Given the description of an element on the screen output the (x, y) to click on. 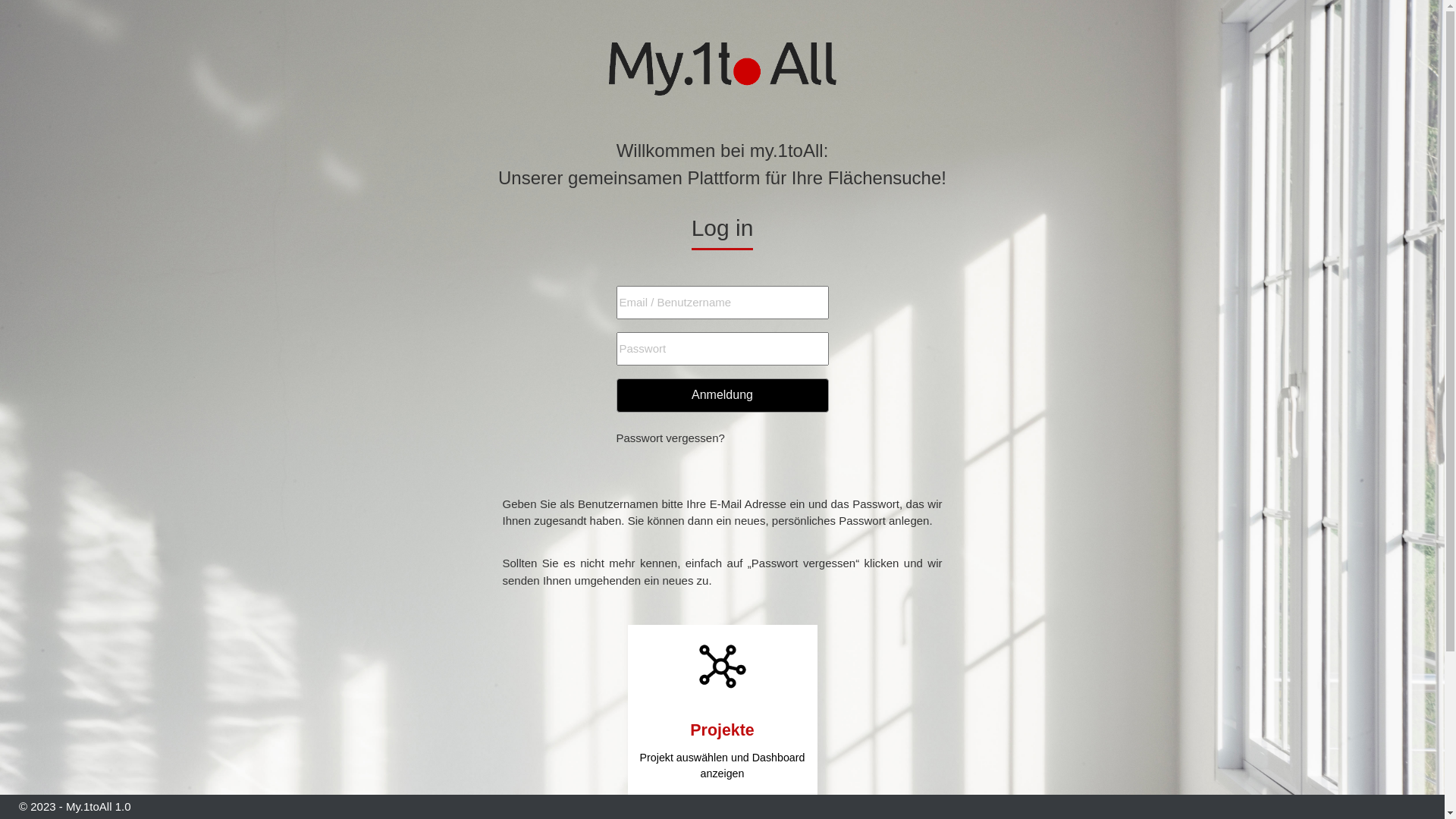
Anmeldung Element type: text (721, 395)
Passwort vergessen? Element type: text (669, 437)
